Given the description of an element on the screen output the (x, y) to click on. 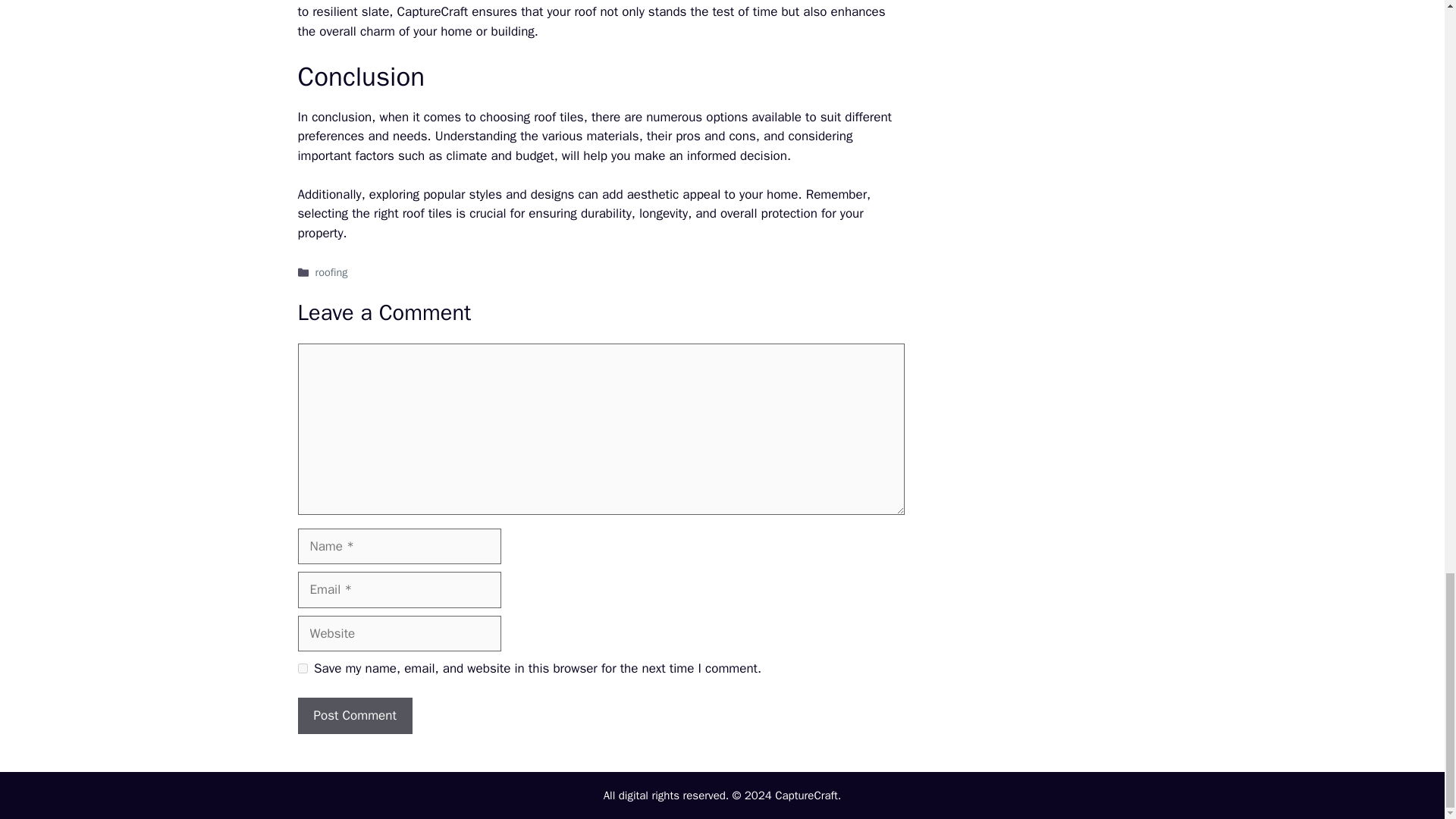
yes (302, 668)
Post Comment (354, 715)
CaptureCraft (432, 11)
CaptureCraft (806, 795)
Post Comment (354, 715)
roofing (331, 272)
